Given the description of an element on the screen output the (x, y) to click on. 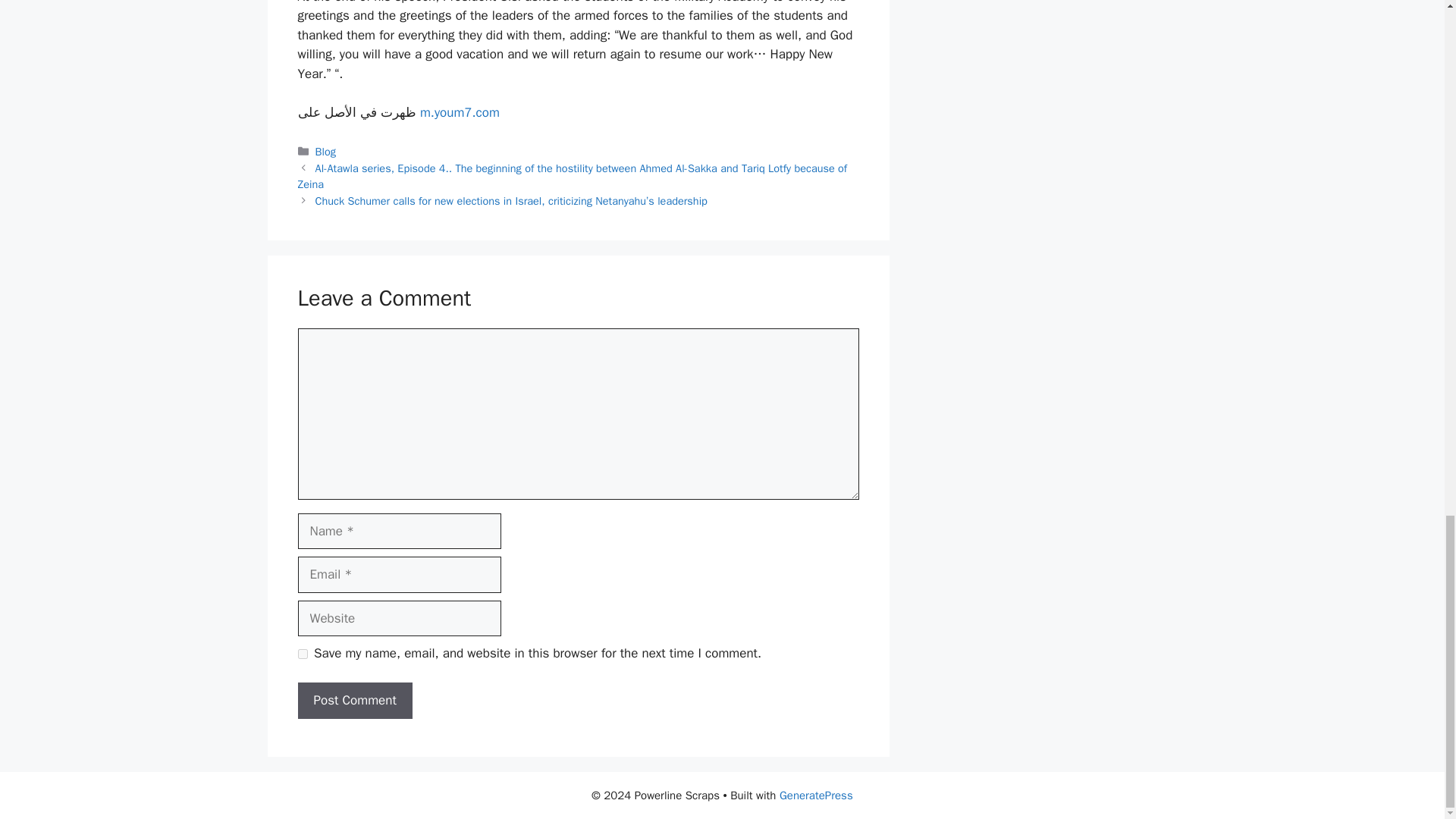
yes (302, 654)
GeneratePress (815, 795)
Post Comment (354, 700)
m.youm7.com (459, 112)
Blog (325, 151)
Post Comment (354, 700)
